Given the description of an element on the screen output the (x, y) to click on. 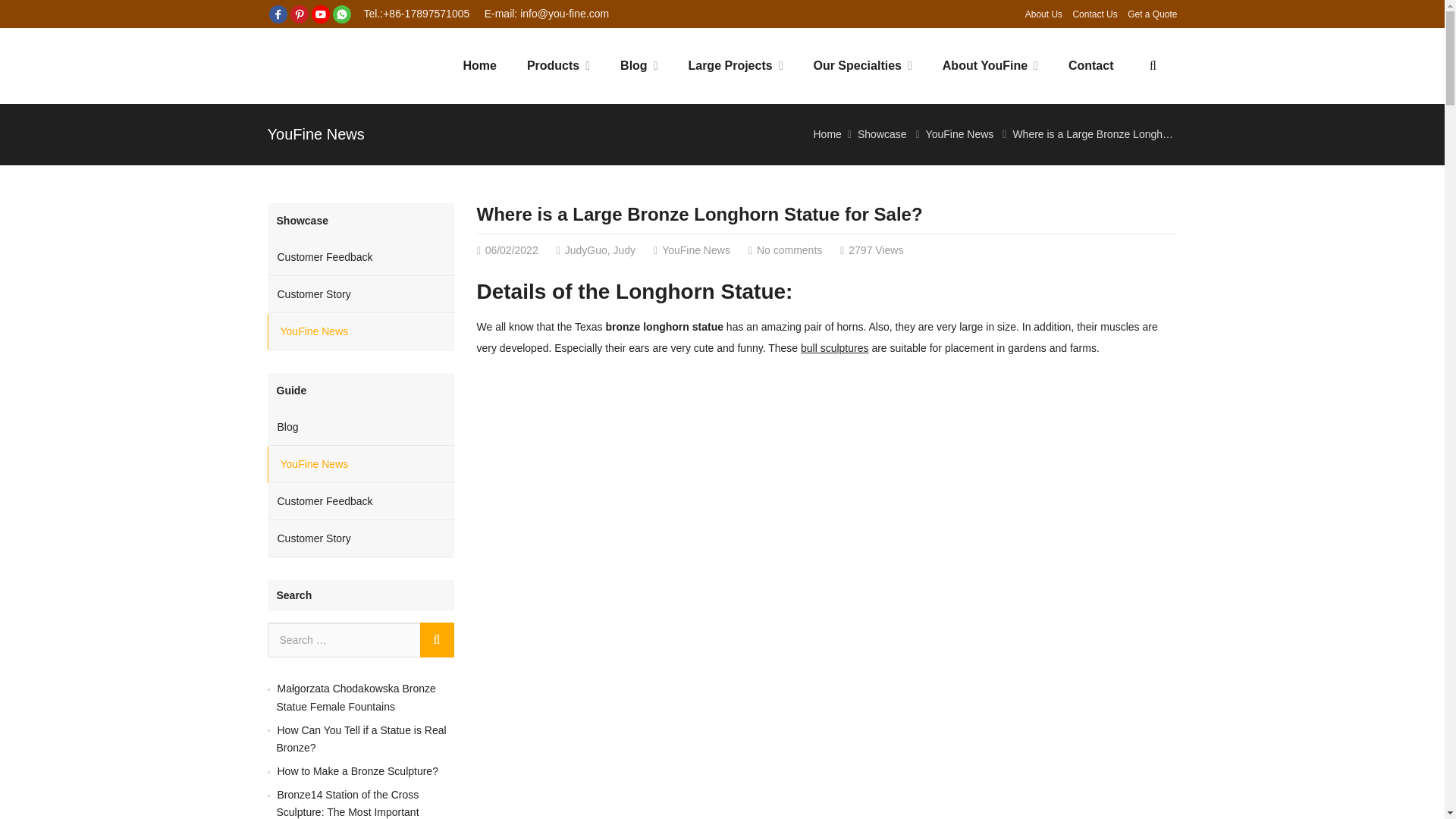
Facebook (277, 13)
Get a Quote (1151, 14)
YouTube (319, 13)
About Us (1043, 14)
Products (558, 65)
Pinterest (298, 13)
You Fine Sculpture (332, 66)
Contact Us (1093, 14)
WhatsApp (341, 13)
